Given the description of an element on the screen output the (x, y) to click on. 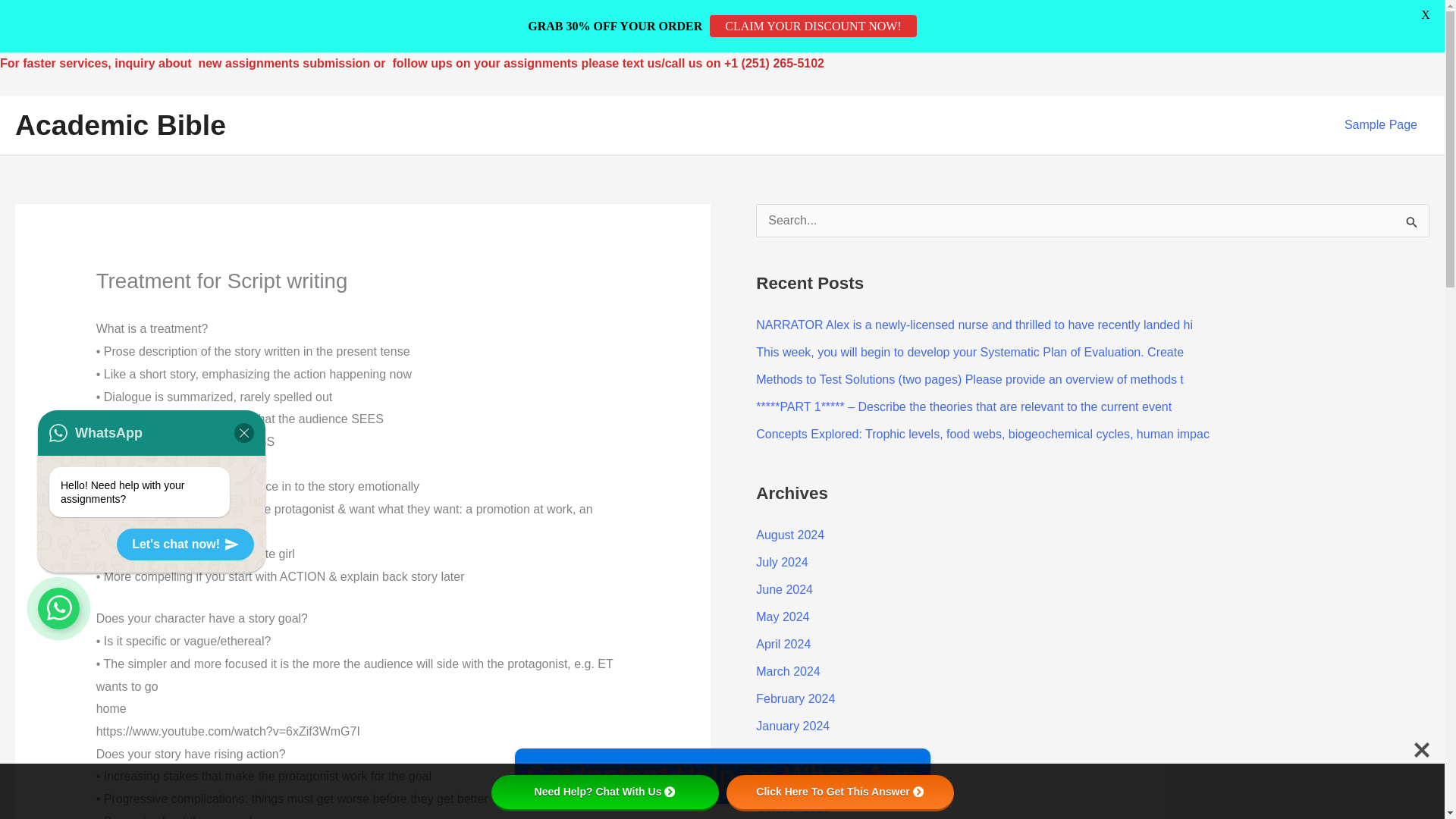
Academic Bible (119, 124)
Sample Page (1380, 124)
May 2024 (782, 616)
December 2023 (799, 753)
October 2023 (792, 807)
Get Instant Help on WhatsApp (721, 775)
July 2024 (781, 562)
March 2024 (788, 671)
August 2024 (789, 534)
February 2024 (794, 698)
April 2024 (782, 644)
June 2024 (783, 589)
